Given the description of an element on the screen output the (x, y) to click on. 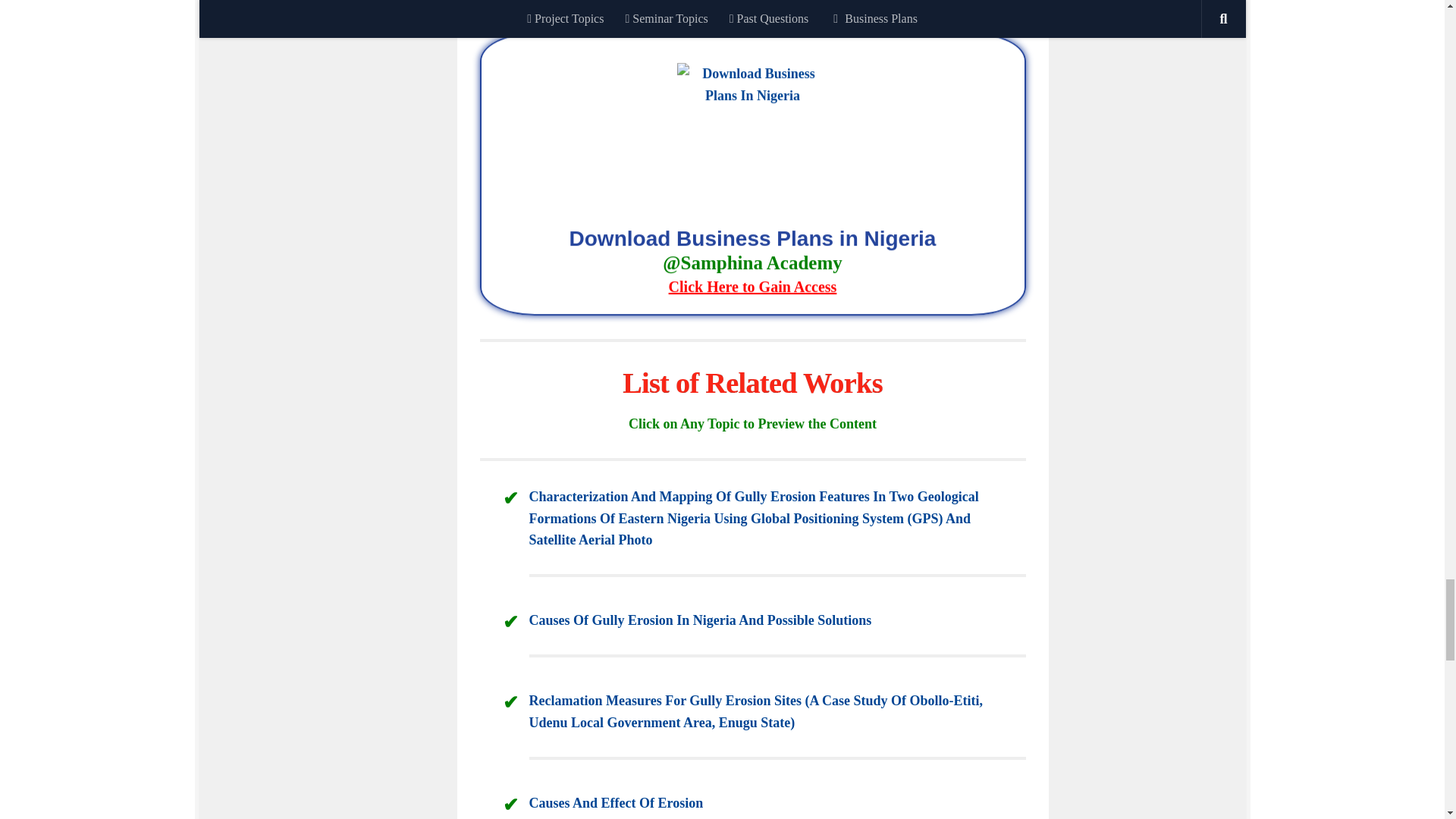
Causes And Effect Of Erosion (616, 801)
Causes Of Gully Erosion In Nigeria And Possible Solutions (700, 620)
Causes Of Gully Erosion In Nigeria And Possible Solutions (700, 620)
Download Business Plans in Nigeria (752, 264)
Causes And Effect Of Erosion (616, 801)
